Given the description of an element on the screen output the (x, y) to click on. 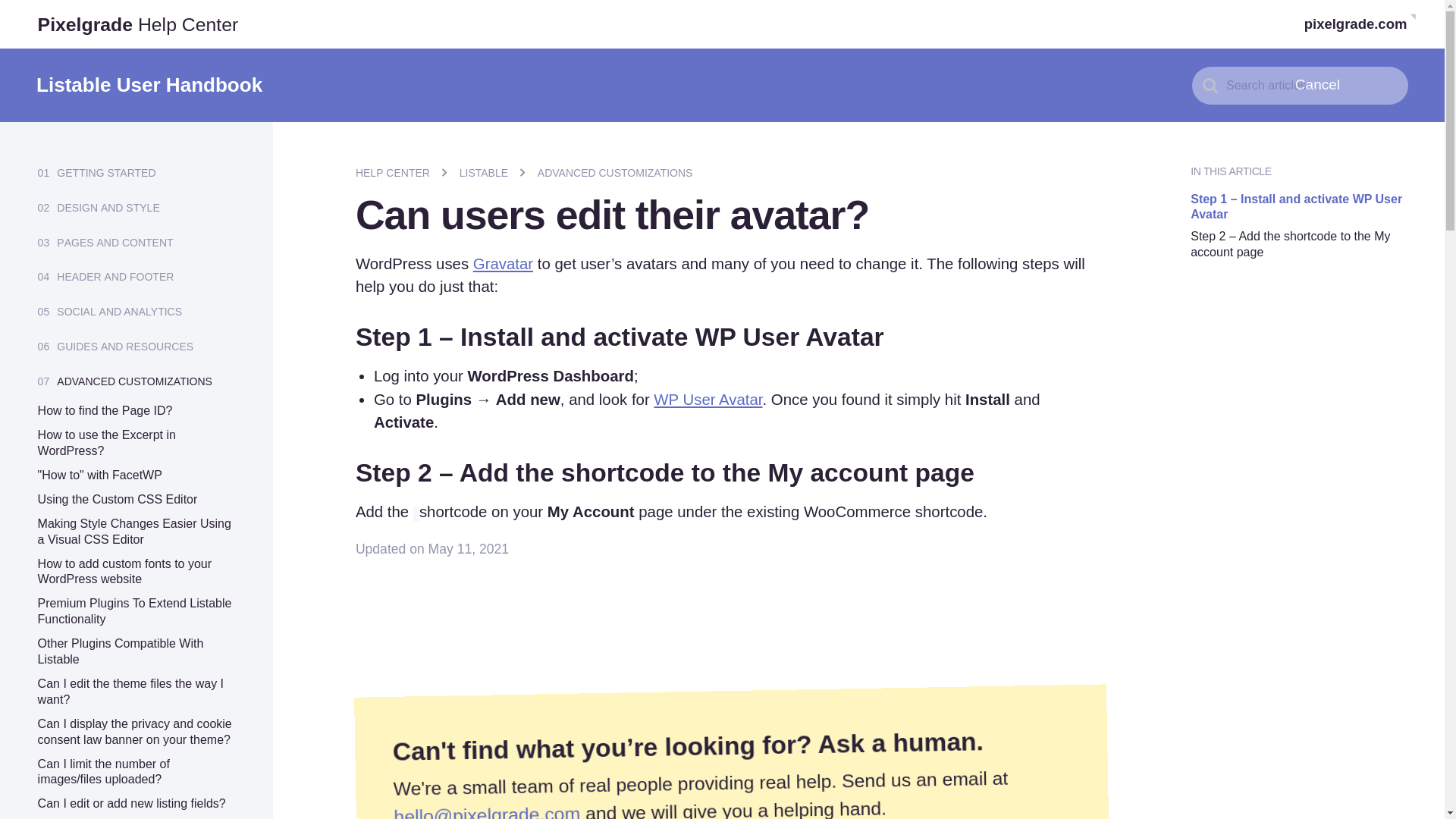
Advanced Customizations (134, 379)
Using the Custom CSS Editor (117, 499)
"How to" with FacetWP (99, 474)
Help Center (400, 170)
Listable (492, 170)
Can I edit the theme files the way I want? (130, 691)
Guides and Resources (124, 344)
Can I edit or add new listing fields? (131, 802)
Getting Started (105, 170)
Other Plugins Compatible With Listable (120, 651)
Listable User Handbook (149, 84)
pixelgrade.com (1355, 23)
How to find the Page ID? (105, 410)
Header and Footer (114, 274)
